Given the description of an element on the screen output the (x, y) to click on. 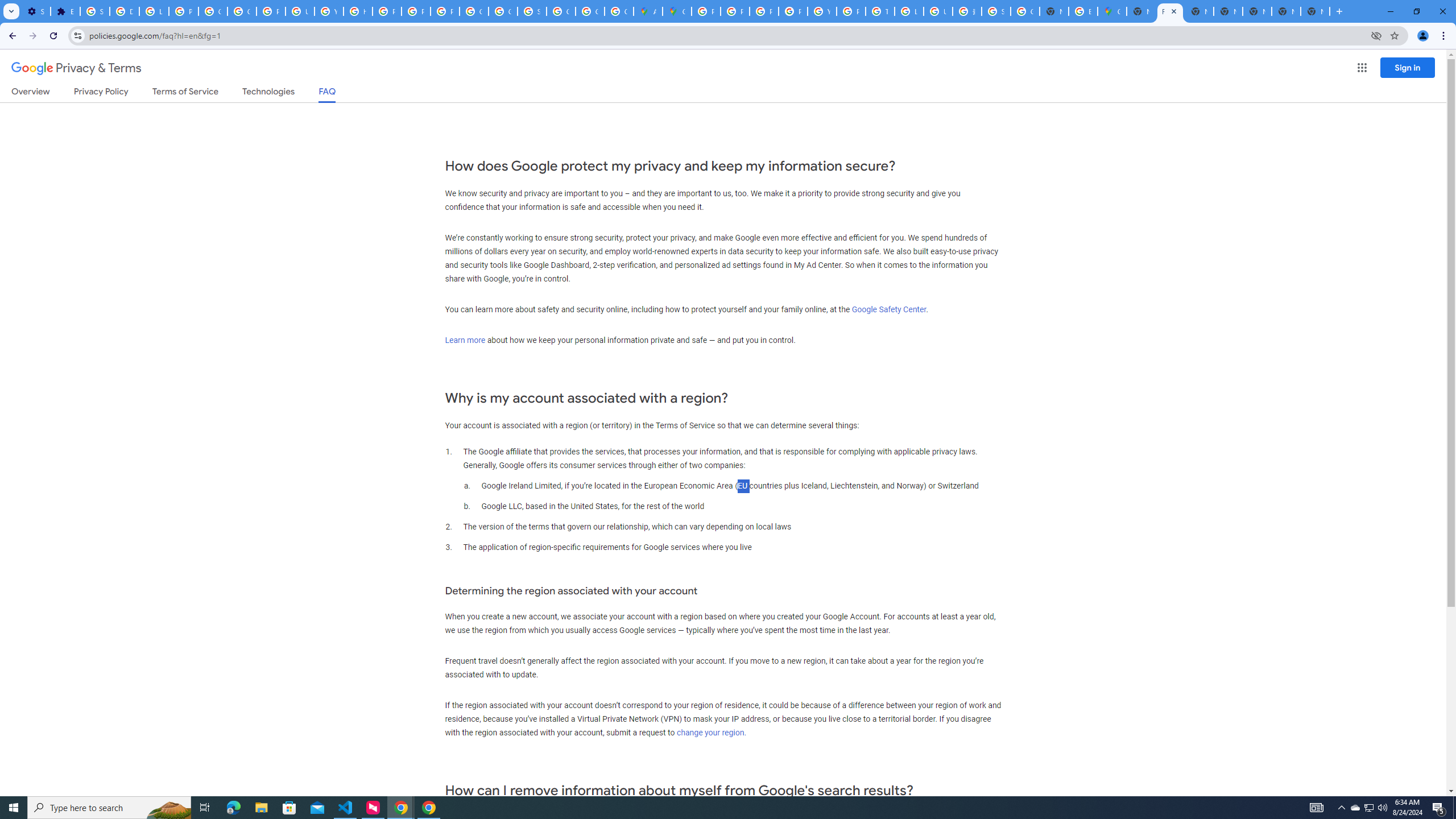
YouTube (821, 11)
Google Safety Center (888, 309)
